Given the description of an element on the screen output the (x, y) to click on. 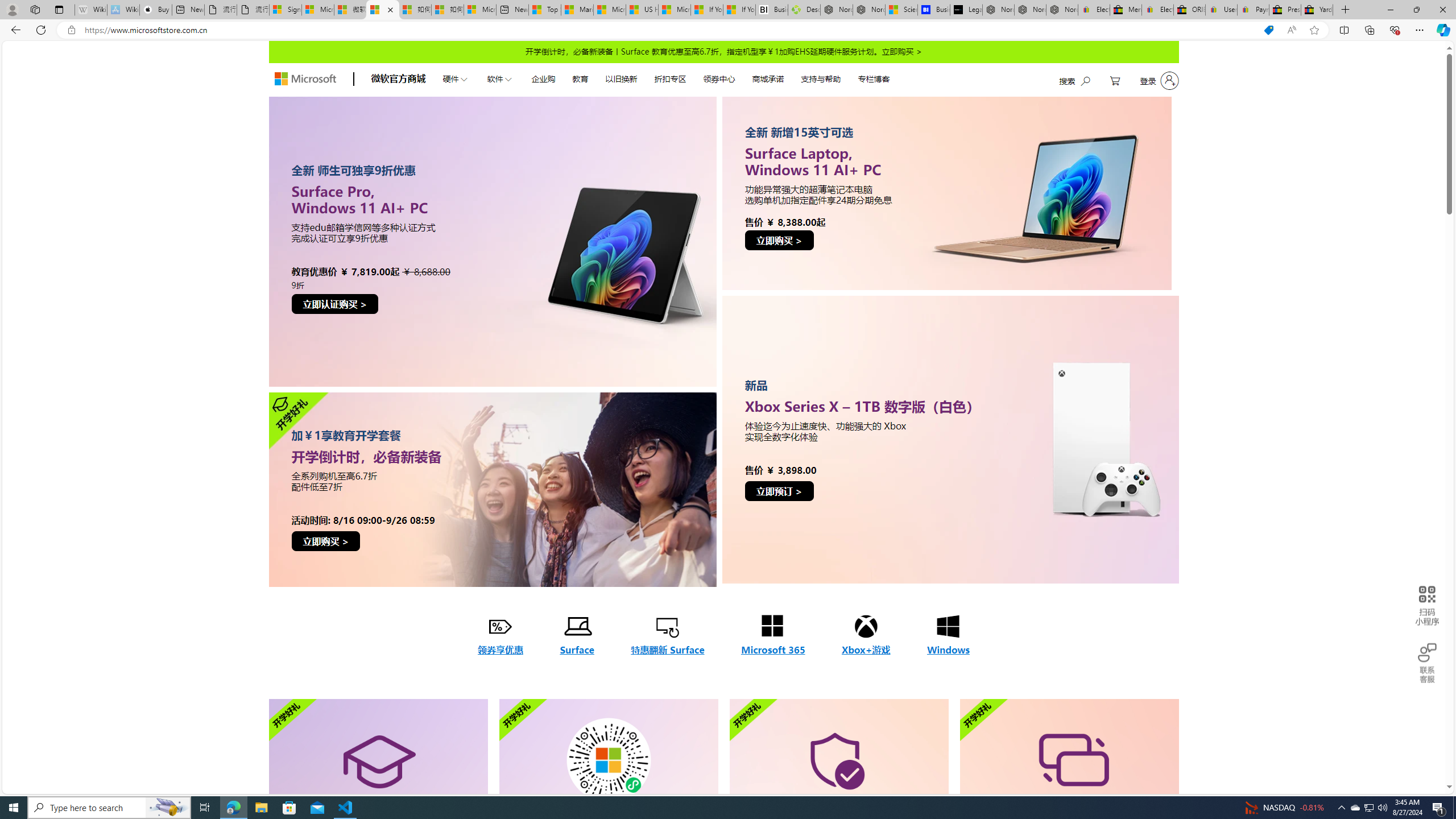
edu (491, 240)
Buy iPad - Apple (155, 9)
Windows (947, 635)
